Given the description of an element on the screen output the (x, y) to click on. 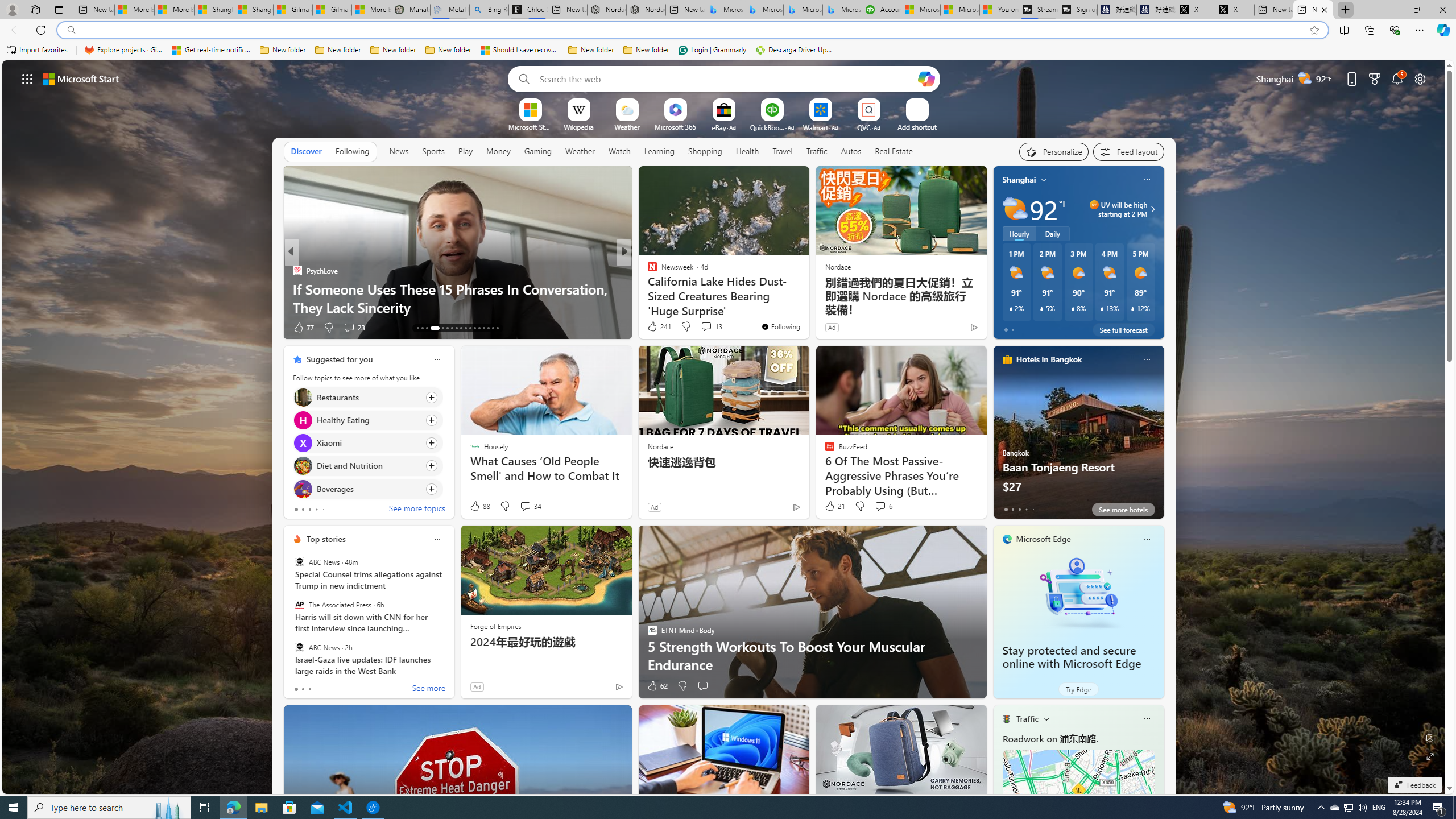
Kinda Frugal (296, 270)
View comments 18 Comment (707, 327)
View comments 42 Comment (698, 327)
Should I save recovered Word documents? - Microsoft Support (519, 49)
hotels-header-icon (1006, 358)
Top stories (325, 538)
See full forecast (1123, 329)
Shanghai (1018, 179)
AutomationID: tab-24 (474, 328)
AutomationID: tab-21 (460, 328)
